Given the description of an element on the screen output the (x, y) to click on. 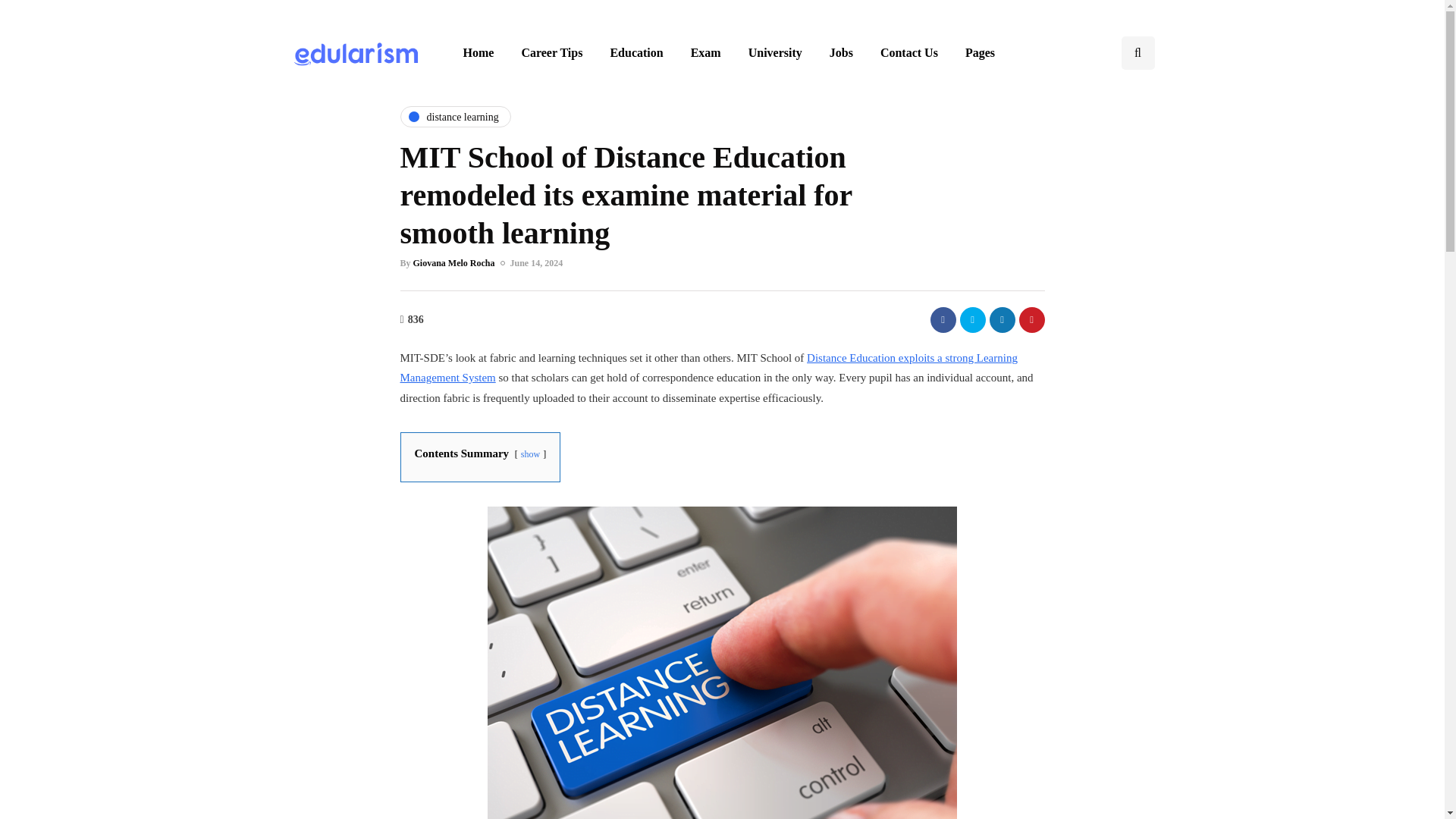
Home (477, 52)
Exam (706, 52)
Career Tips (550, 52)
University (775, 52)
Tweet this (972, 319)
Jobs (840, 52)
Pin this (1032, 319)
Pages (980, 52)
Share with Facebook (942, 319)
Education (636, 52)
Share with LinkedIn (1001, 319)
Posts by Giovana Melo Rocha (454, 262)
Contact Us (909, 52)
